Given the description of an element on the screen output the (x, y) to click on. 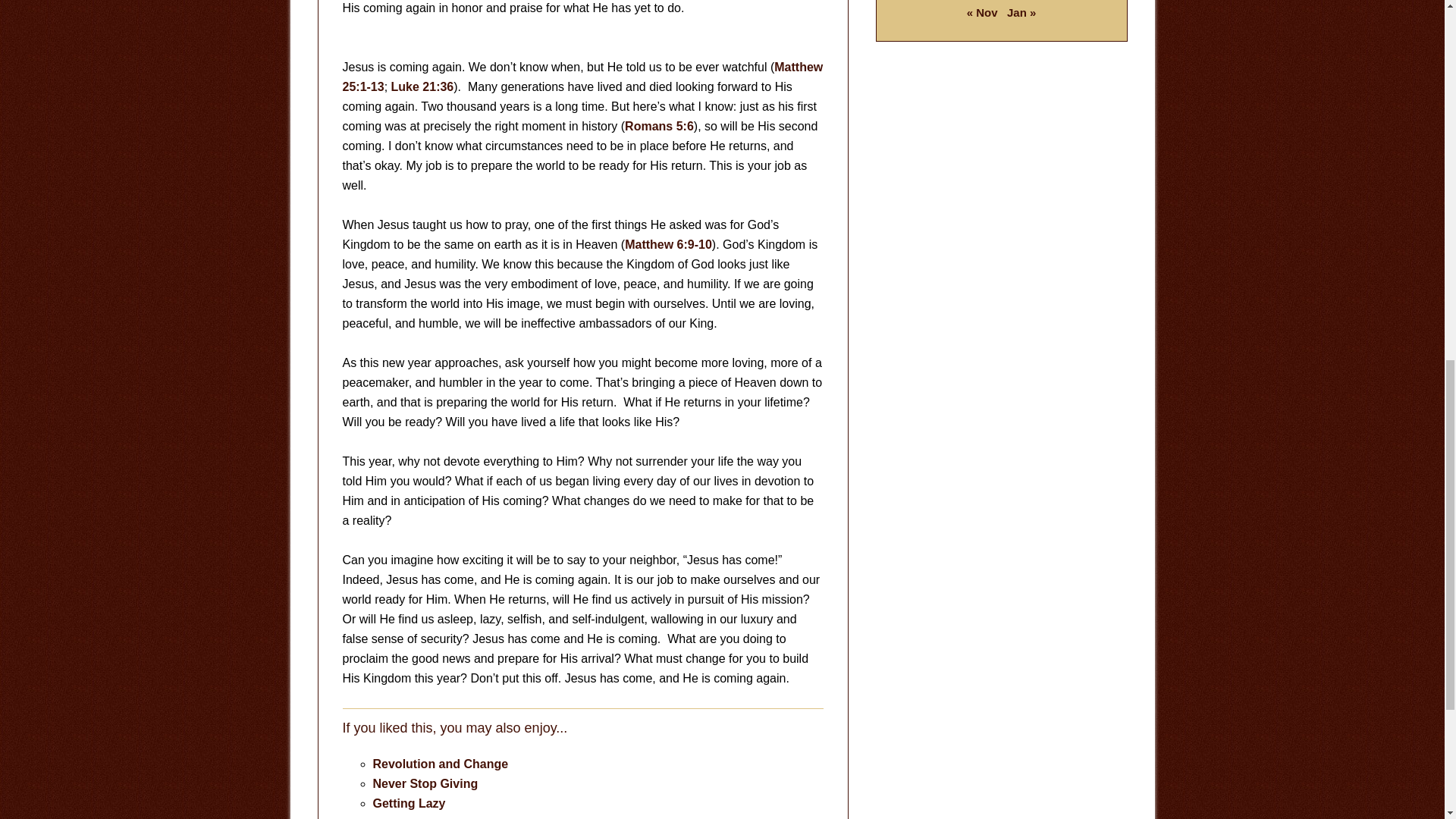
Getting Lazy (408, 802)
Matthew 6:9-10 (667, 244)
Matthew 25:1-13 (583, 76)
Never Stop Giving (425, 783)
Getting Lazy (408, 802)
Romans 5:6 (659, 125)
Revolution and Change (440, 763)
Revolution and Change (440, 763)
Luke 21:36 (422, 86)
Never Stop Giving (425, 783)
